Given the description of an element on the screen output the (x, y) to click on. 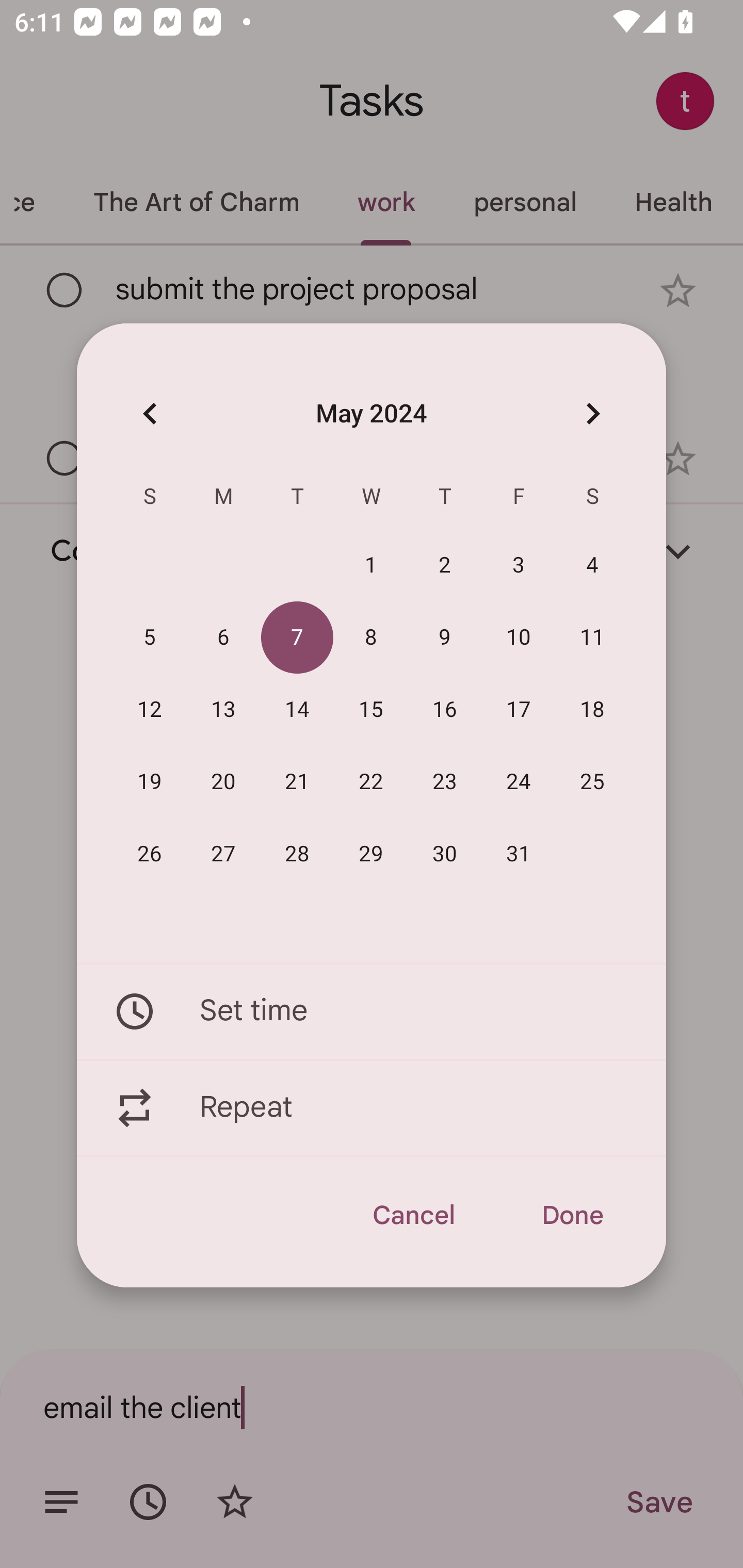
Previous month (149, 413)
Next month (592, 413)
1 01 May 2024 (370, 565)
2 02 May 2024 (444, 565)
3 03 May 2024 (518, 565)
4 04 May 2024 (592, 565)
5 05 May 2024 (149, 638)
6 06 May 2024 (223, 638)
7 07 May 2024 (297, 638)
8 08 May 2024 (370, 638)
9 09 May 2024 (444, 638)
10 10 May 2024 (518, 638)
11 11 May 2024 (592, 638)
12 12 May 2024 (149, 710)
13 13 May 2024 (223, 710)
14 14 May 2024 (297, 710)
15 15 May 2024 (370, 710)
16 16 May 2024 (444, 710)
17 17 May 2024 (518, 710)
18 18 May 2024 (592, 710)
19 19 May 2024 (149, 782)
20 20 May 2024 (223, 782)
21 21 May 2024 (297, 782)
22 22 May 2024 (370, 782)
23 23 May 2024 (444, 782)
24 24 May 2024 (518, 782)
25 25 May 2024 (592, 782)
26 26 May 2024 (149, 854)
27 27 May 2024 (223, 854)
28 28 May 2024 (297, 854)
29 29 May 2024 (370, 854)
30 30 May 2024 (444, 854)
31 31 May 2024 (518, 854)
Set time (371, 1011)
Repeat (371, 1108)
Cancel (412, 1215)
Done (571, 1215)
